Given the description of an element on the screen output the (x, y) to click on. 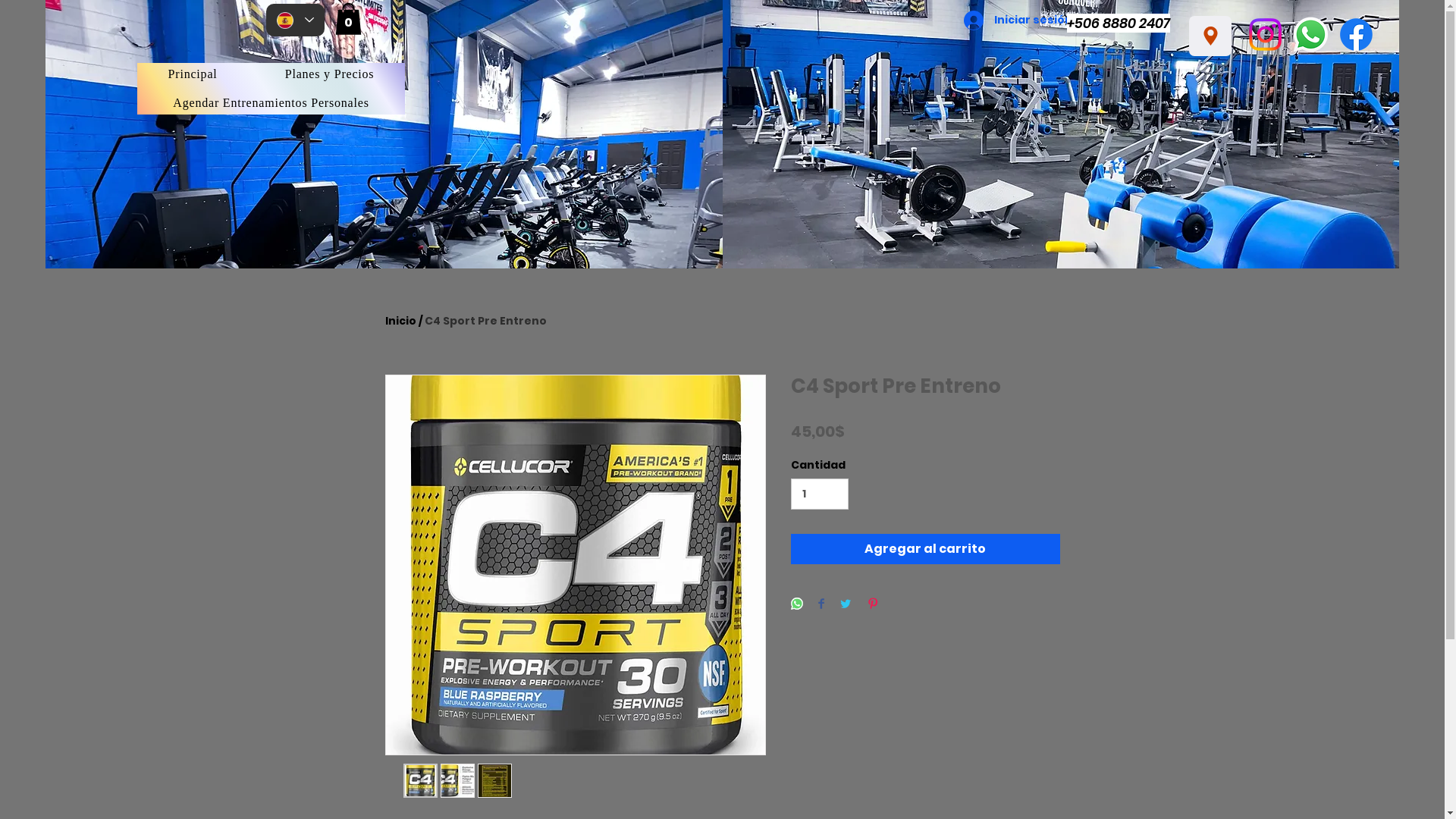
C4 Sport Pre Entreno Element type: text (485, 320)
Planes y Precios Element type: text (329, 73)
Agendar Entrenamientos Personales Element type: text (270, 102)
Agregar al carrito Element type: text (924, 548)
Inicio Element type: text (400, 320)
Principal Element type: text (192, 73)
0 Element type: text (348, 18)
